Given the description of an element on the screen output the (x, y) to click on. 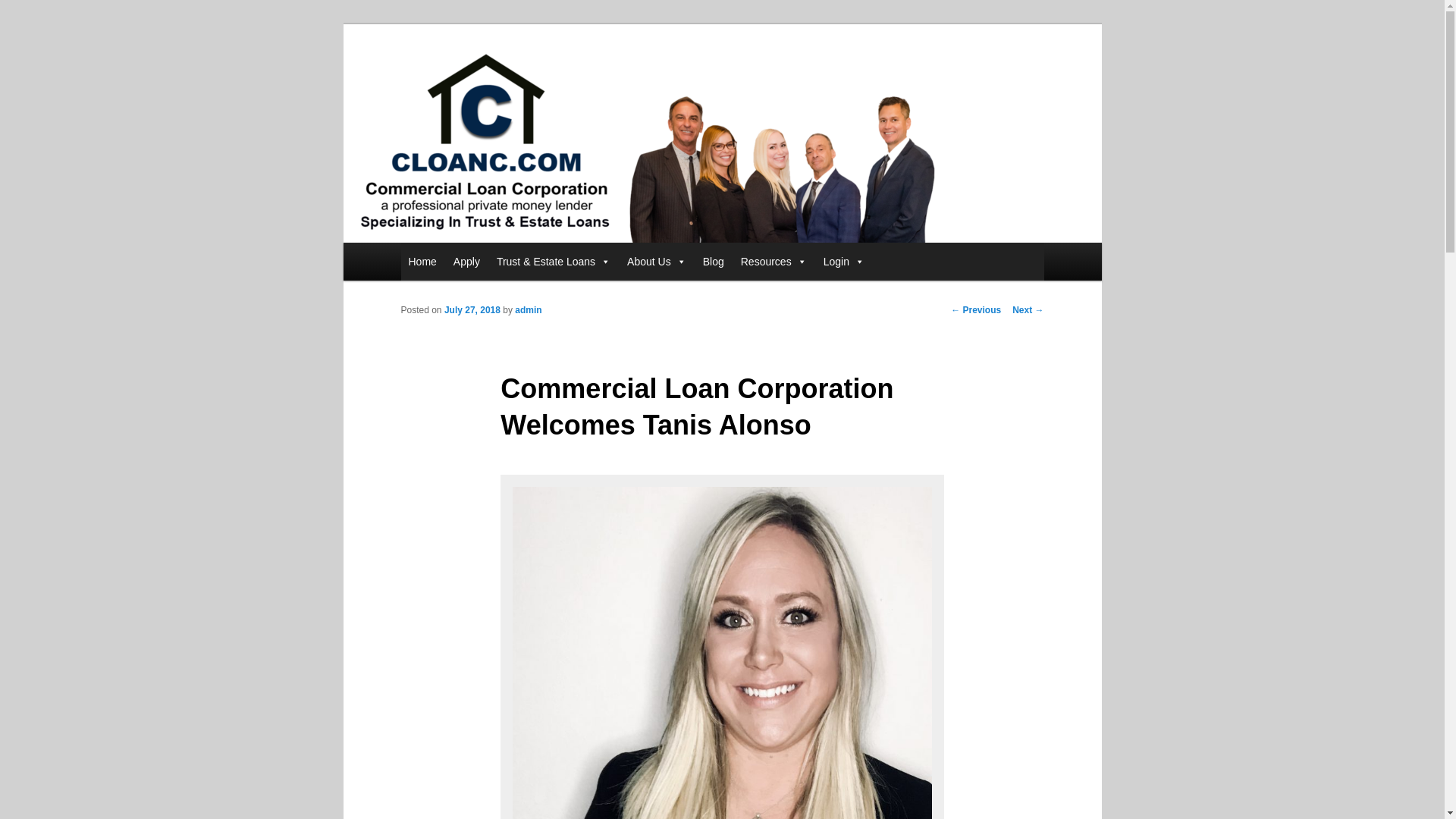
admin (528, 309)
View all posts by admin (528, 309)
Home (422, 261)
Login (843, 261)
1:40 pm (472, 309)
July 27, 2018 (472, 309)
Apply (466, 261)
Blog (713, 261)
About Us (657, 261)
Resources (773, 261)
